Given the description of an element on the screen output the (x, y) to click on. 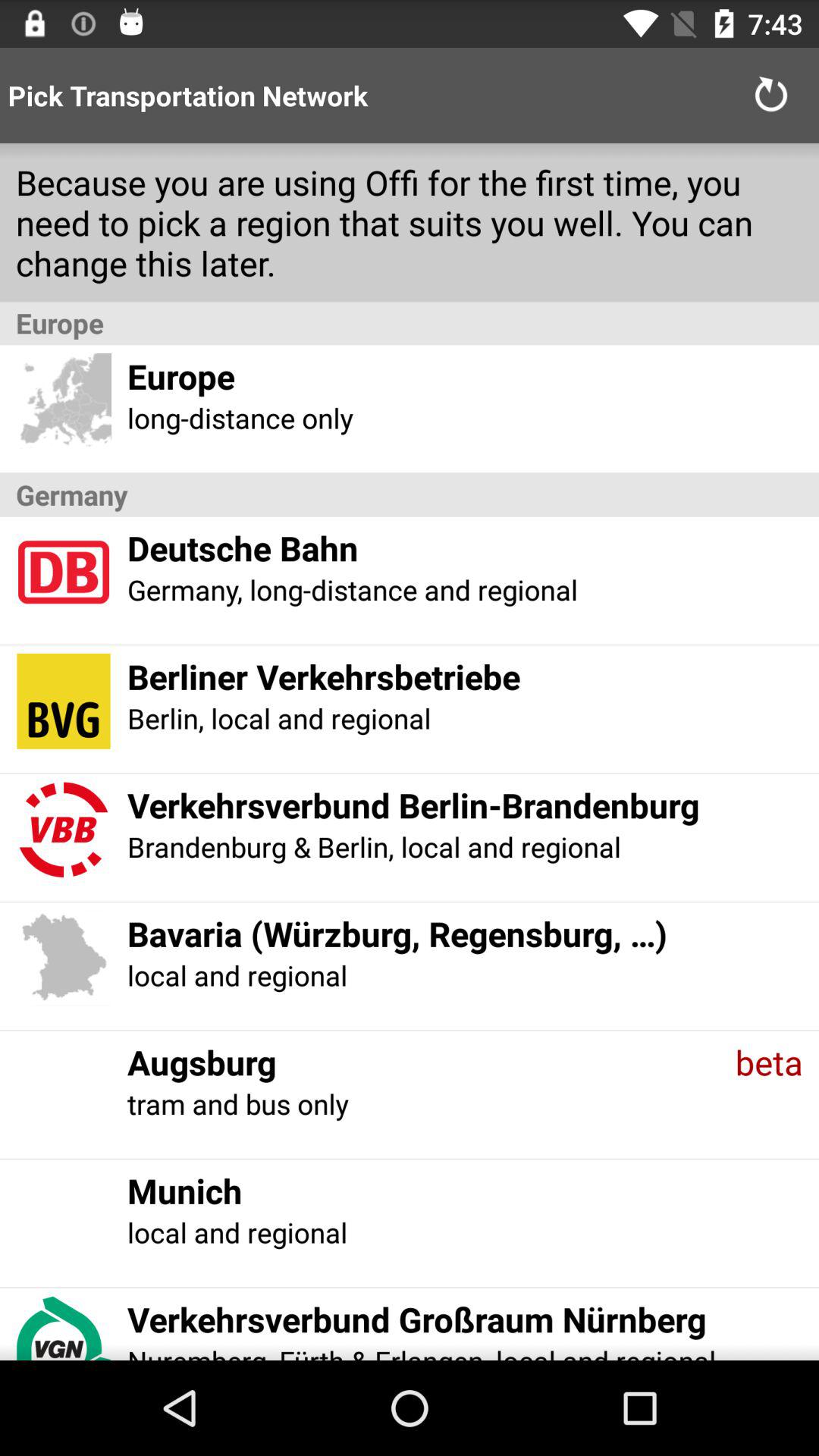
turn off app to the right of the pick transportation network (771, 95)
